Given the description of an element on the screen output the (x, y) to click on. 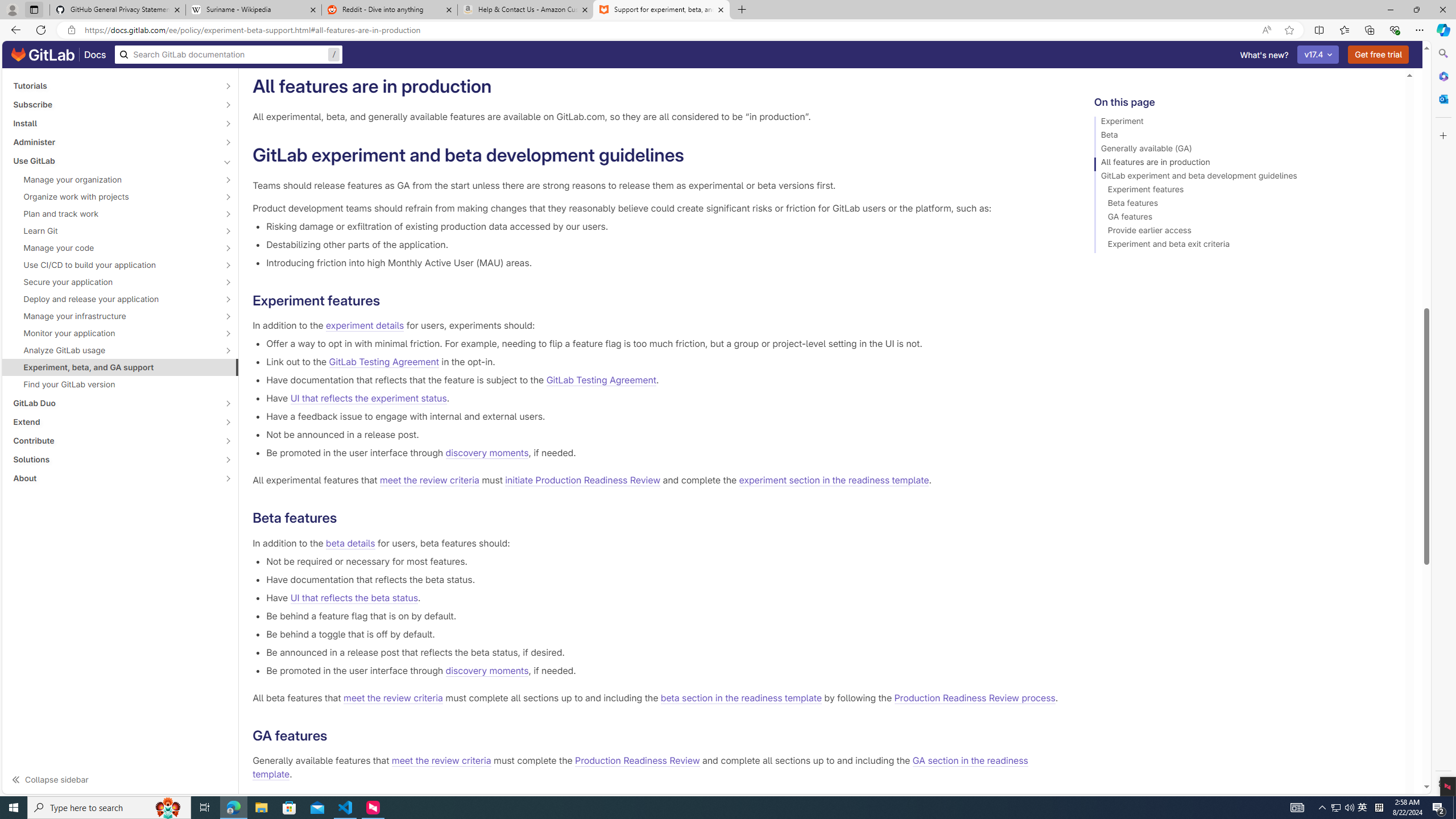
Tutorials (113, 85)
Be behind a feature flag that is on by default. (662, 615)
Monitor your application (113, 333)
Beta (1244, 136)
Production Readiness Review (637, 761)
Manage your organization (113, 179)
Permalink (336, 735)
Subscribe (113, 104)
Collapse sidebar (120, 779)
Deploy and release your application (113, 298)
